Given the description of an element on the screen output the (x, y) to click on. 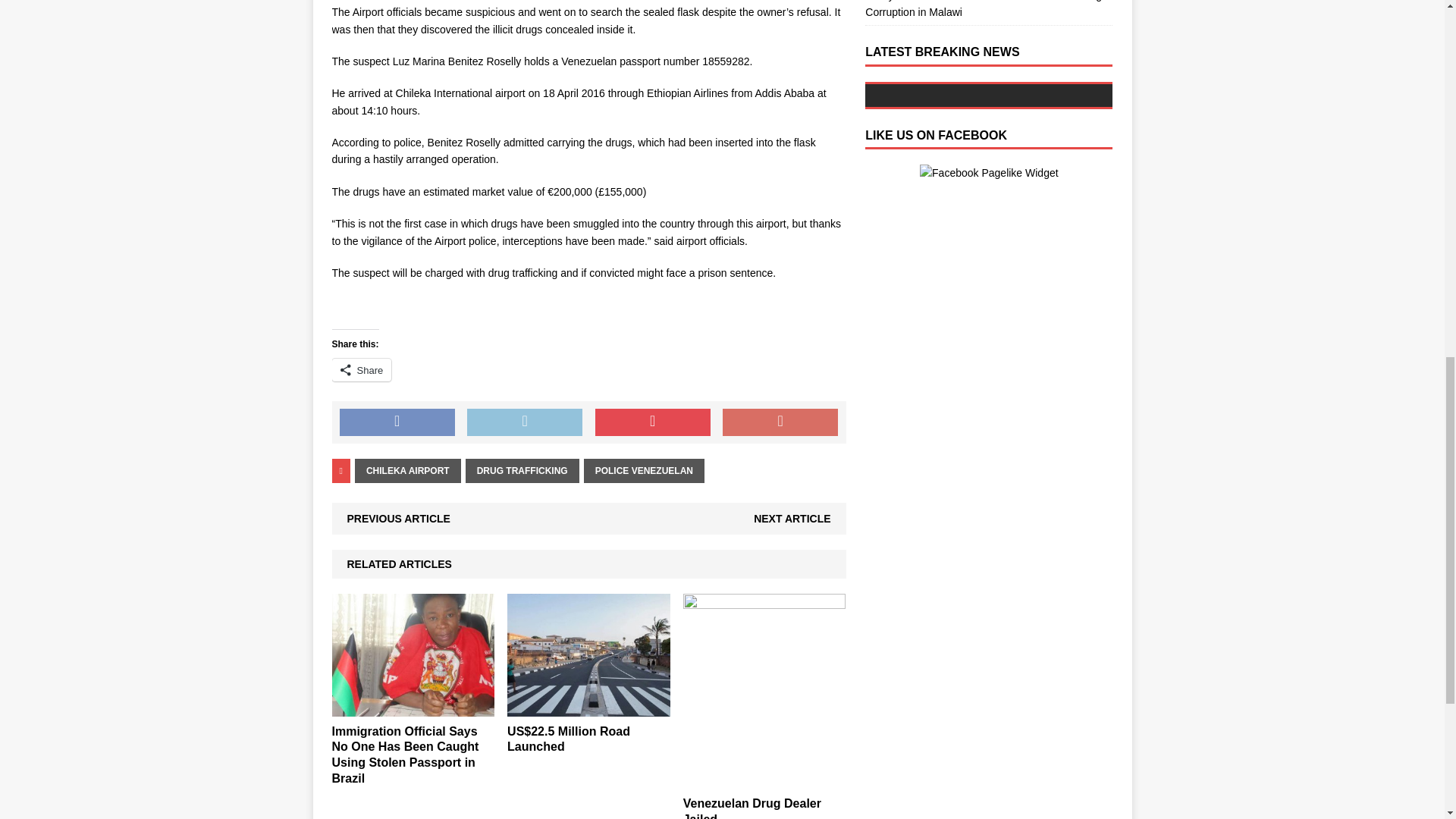
CHILEKA AIRPORT (408, 470)
POLICE VENEZUELAN (643, 470)
DRUG TRAFFICKING (522, 470)
Share (361, 369)
